Given the description of an element on the screen output the (x, y) to click on. 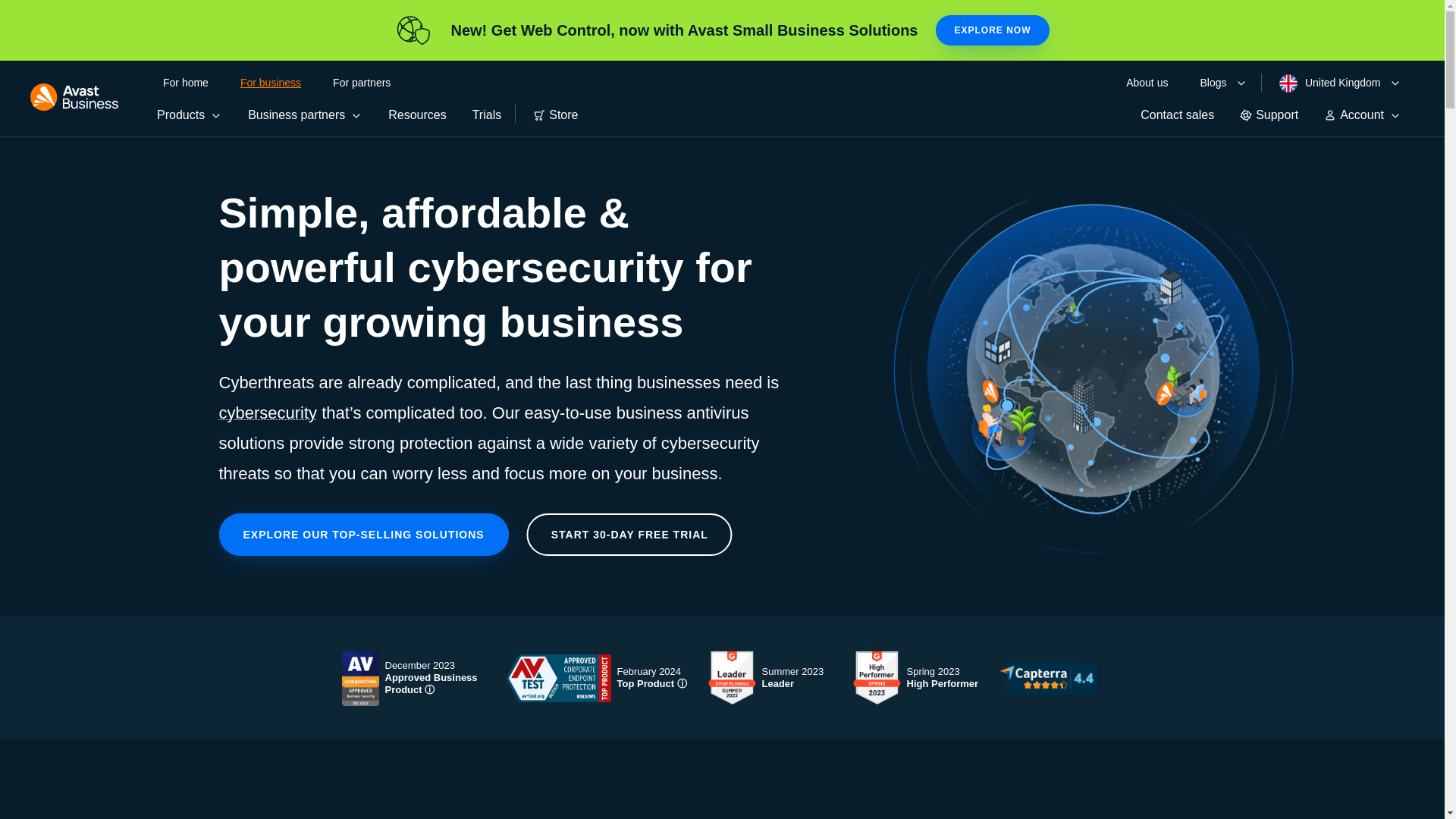
Home (73, 96)
About us (1146, 82)
For business (270, 82)
For partners (361, 82)
For home (185, 82)
United Kingdom (1329, 82)
